Given the description of an element on the screen output the (x, y) to click on. 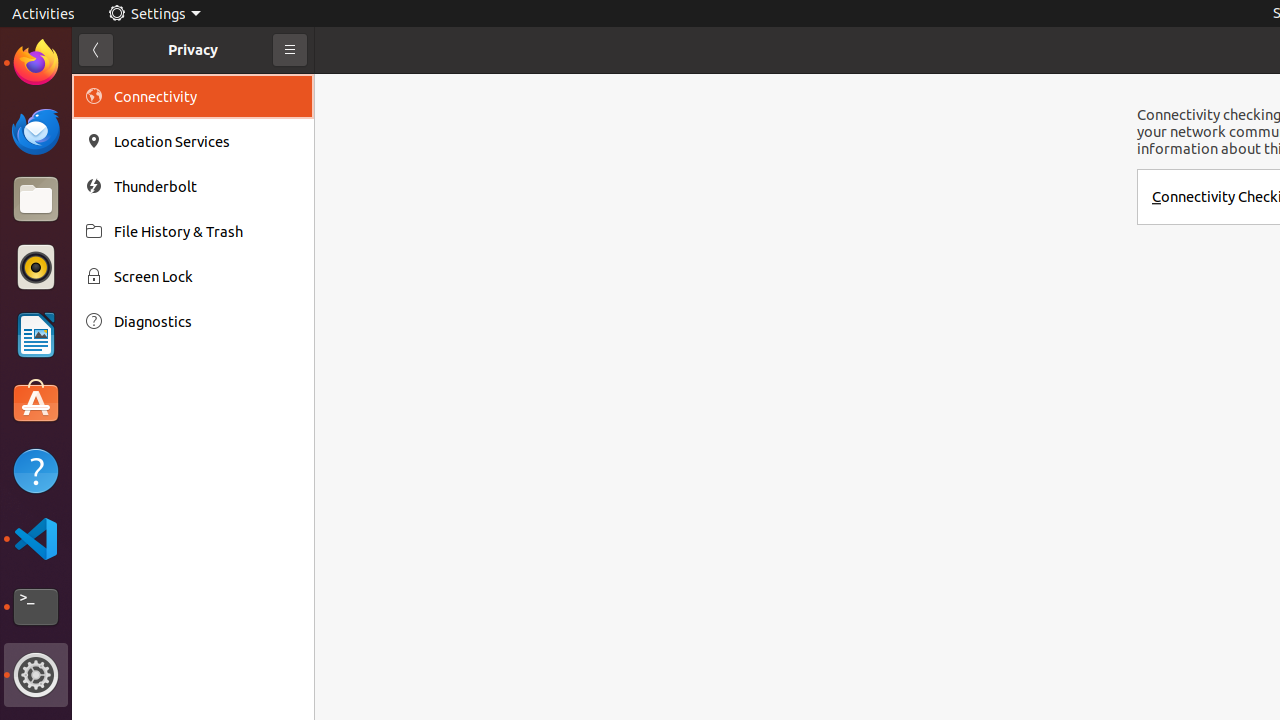
Settings Element type: push-button (36, 675)
Primary Menu Element type: toggle-button (290, 50)
Trash Element type: label (133, 191)
